Given the description of an element on the screen output the (x, y) to click on. 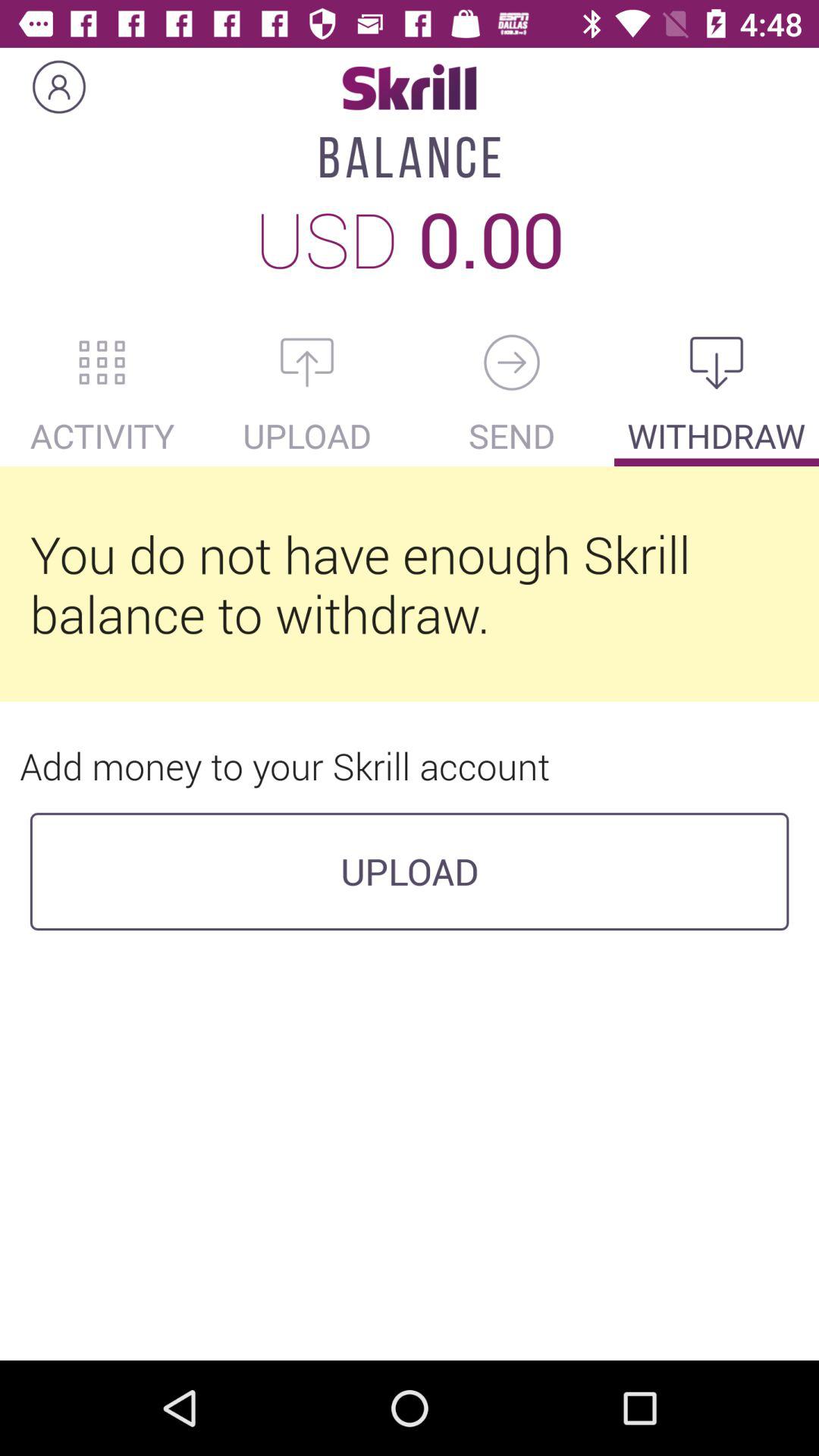
activity (102, 362)
